Given the description of an element on the screen output the (x, y) to click on. 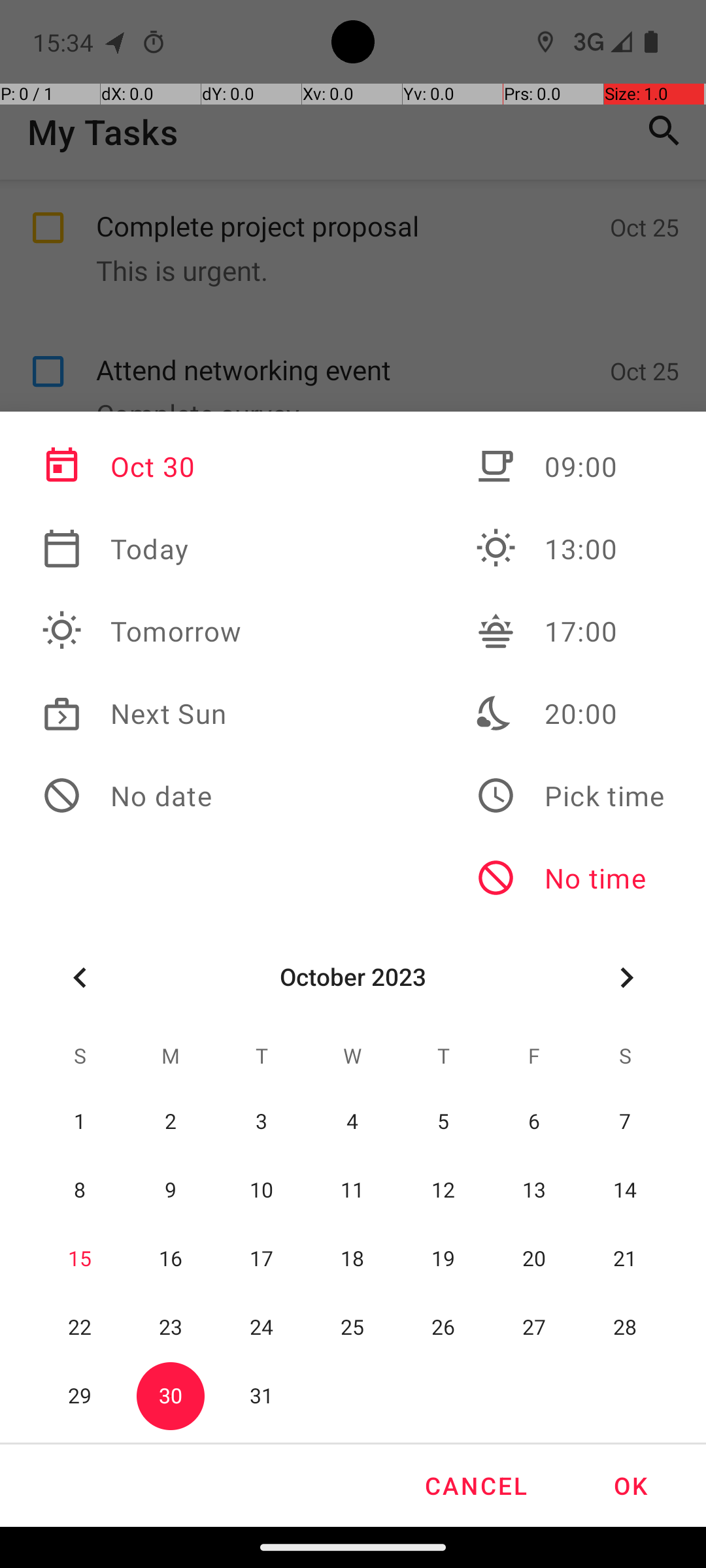
Oct 30 Element type: android.widget.CompoundButton (141, 466)
